Given the description of an element on the screen output the (x, y) to click on. 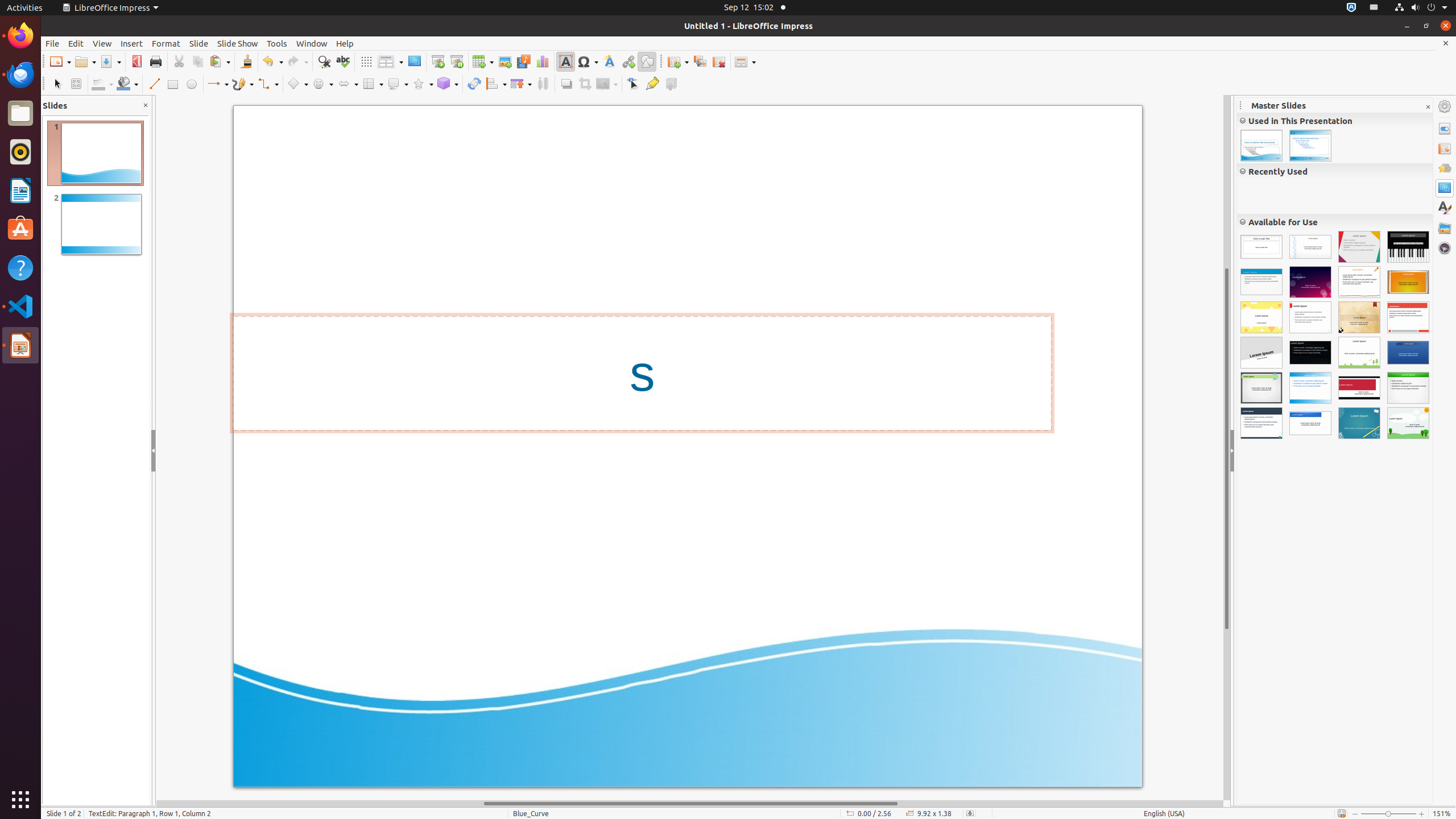
Alizarin Element type: list-item (1407, 316)
Impress Element type: list-item (1309, 316)
System Element type: menu (1420, 7)
New Element type: push-button (59, 61)
Ubuntu Software Element type: push-button (20, 229)
